Given the description of an element on the screen output the (x, y) to click on. 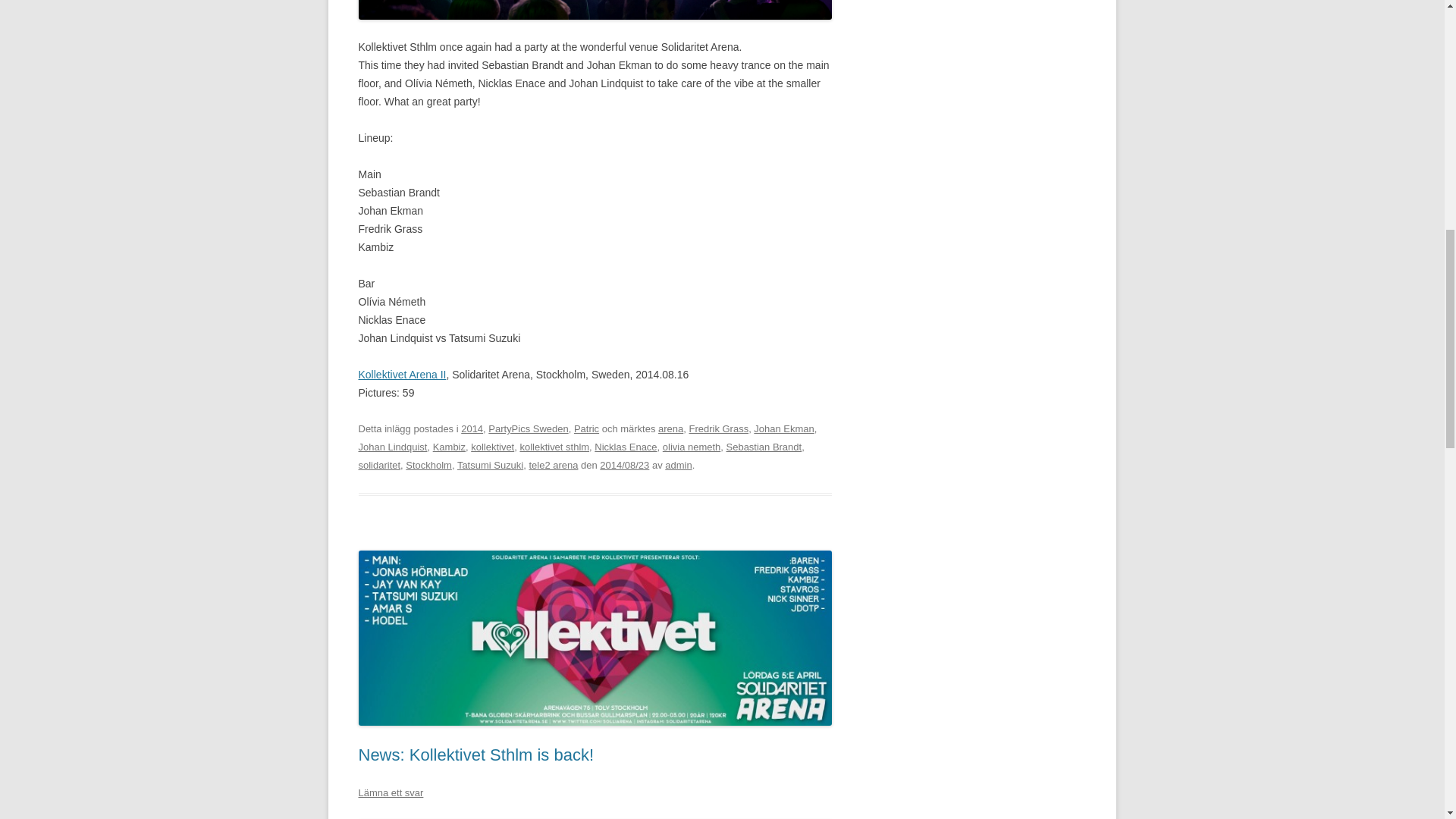
05:13 (624, 464)
Kollektivet Arena II (401, 374)
Kambiz (448, 446)
Patric (585, 428)
Fredrik Grass (718, 428)
Johan Lindquist (392, 446)
PartyPics Sweden (527, 428)
Johan Ekman (783, 428)
2014 (472, 428)
kollektivet (491, 446)
